Given the description of an element on the screen output the (x, y) to click on. 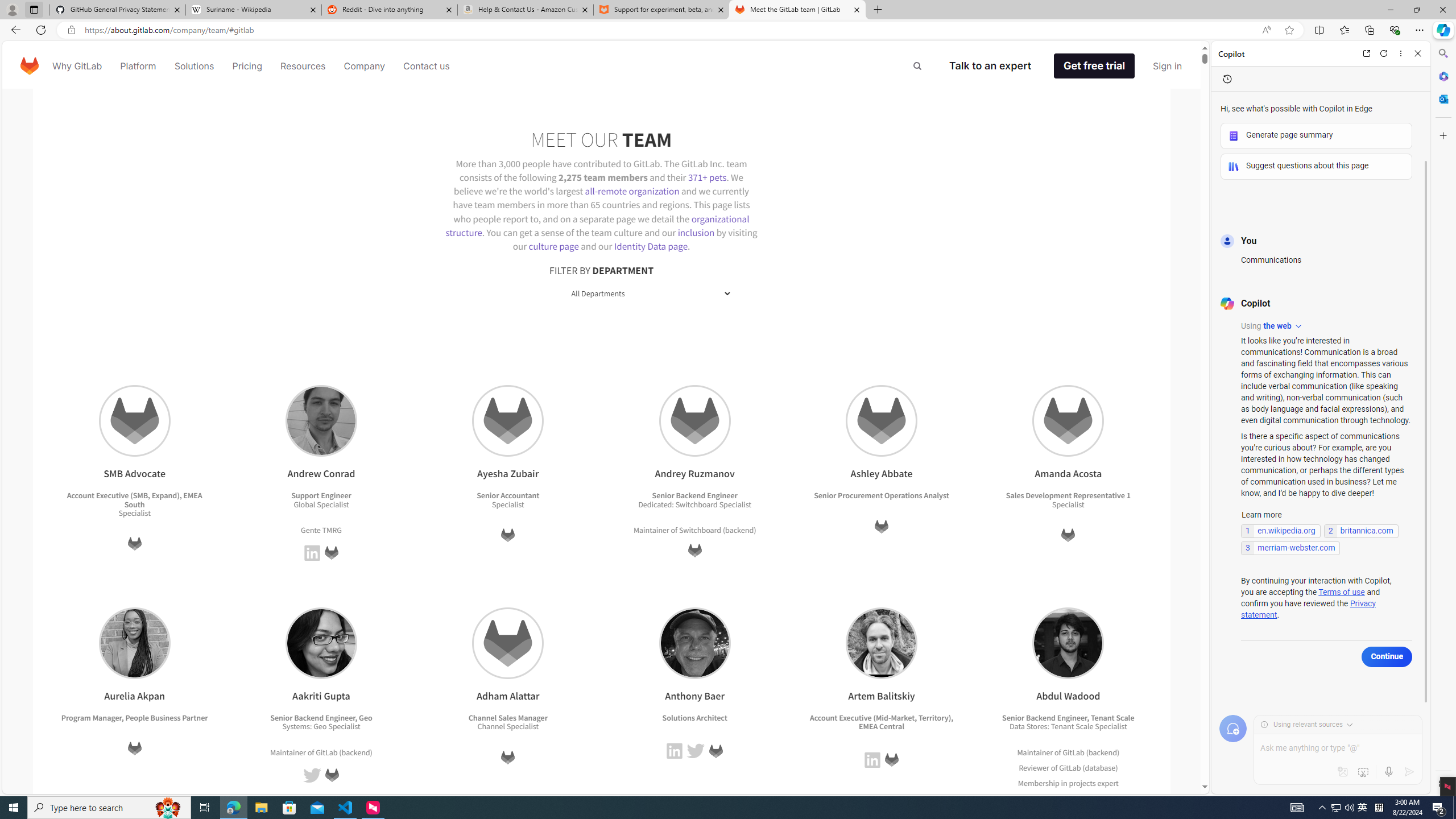
Meet the GitLab team | GitLab (797, 9)
Amanda Acosta (1068, 420)
Reddit - Dive into anything (390, 9)
Senior Backend Engineer (1044, 717)
expert (1105, 797)
SMB Advocate (134, 420)
Senior Procurement Operations Analyst (881, 495)
Aakriti Gupta (320, 642)
